Given the description of an element on the screen output the (x, y) to click on. 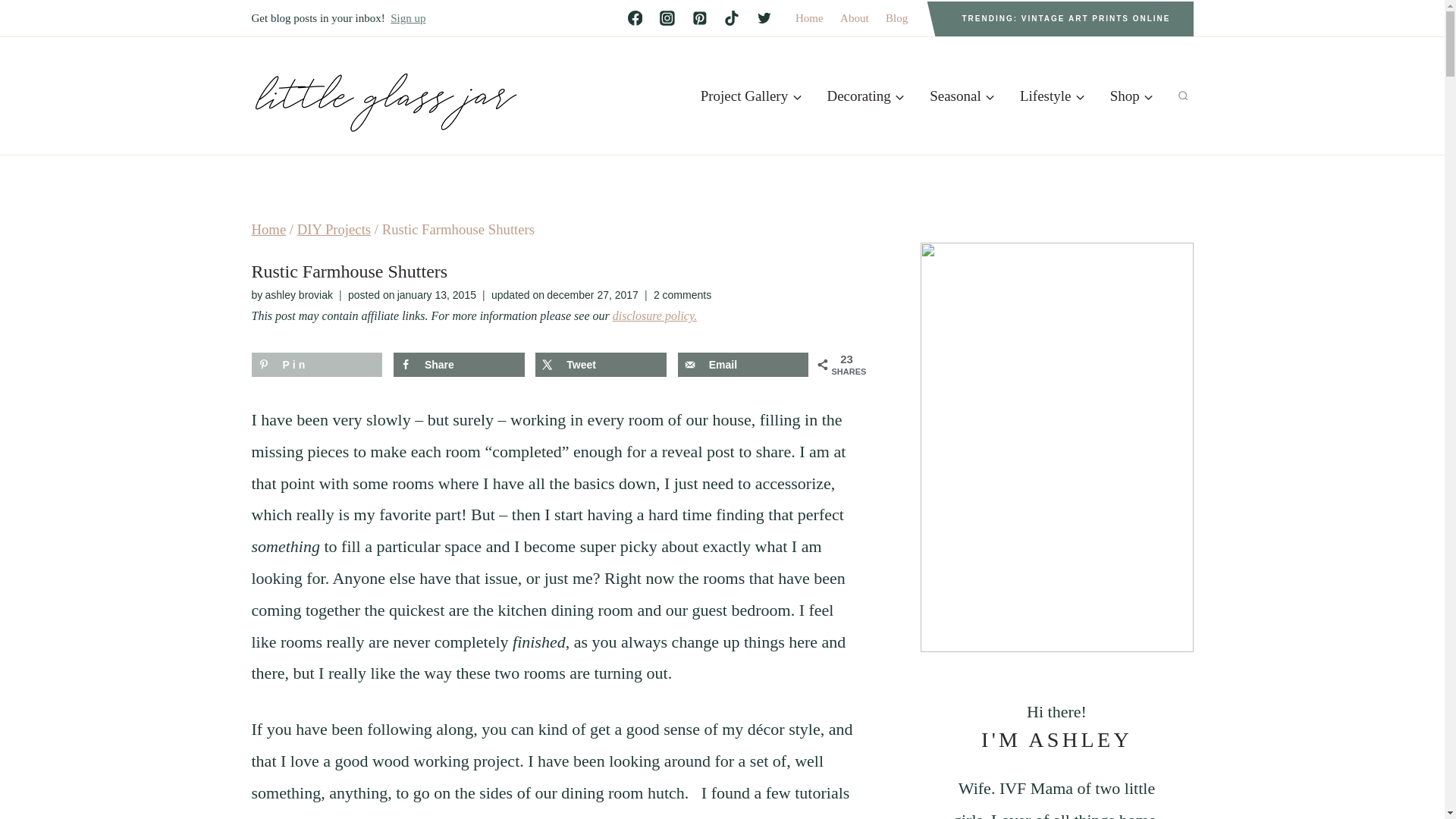
DIY Projects (334, 229)
Seasonal (962, 95)
Share on X (600, 364)
Share on Facebook (458, 364)
Shop (1131, 95)
Save to Pinterest (316, 364)
2 comments (682, 295)
Home (809, 18)
Project Gallery (750, 95)
Lifestyle (1052, 95)
